Given the description of an element on the screen output the (x, y) to click on. 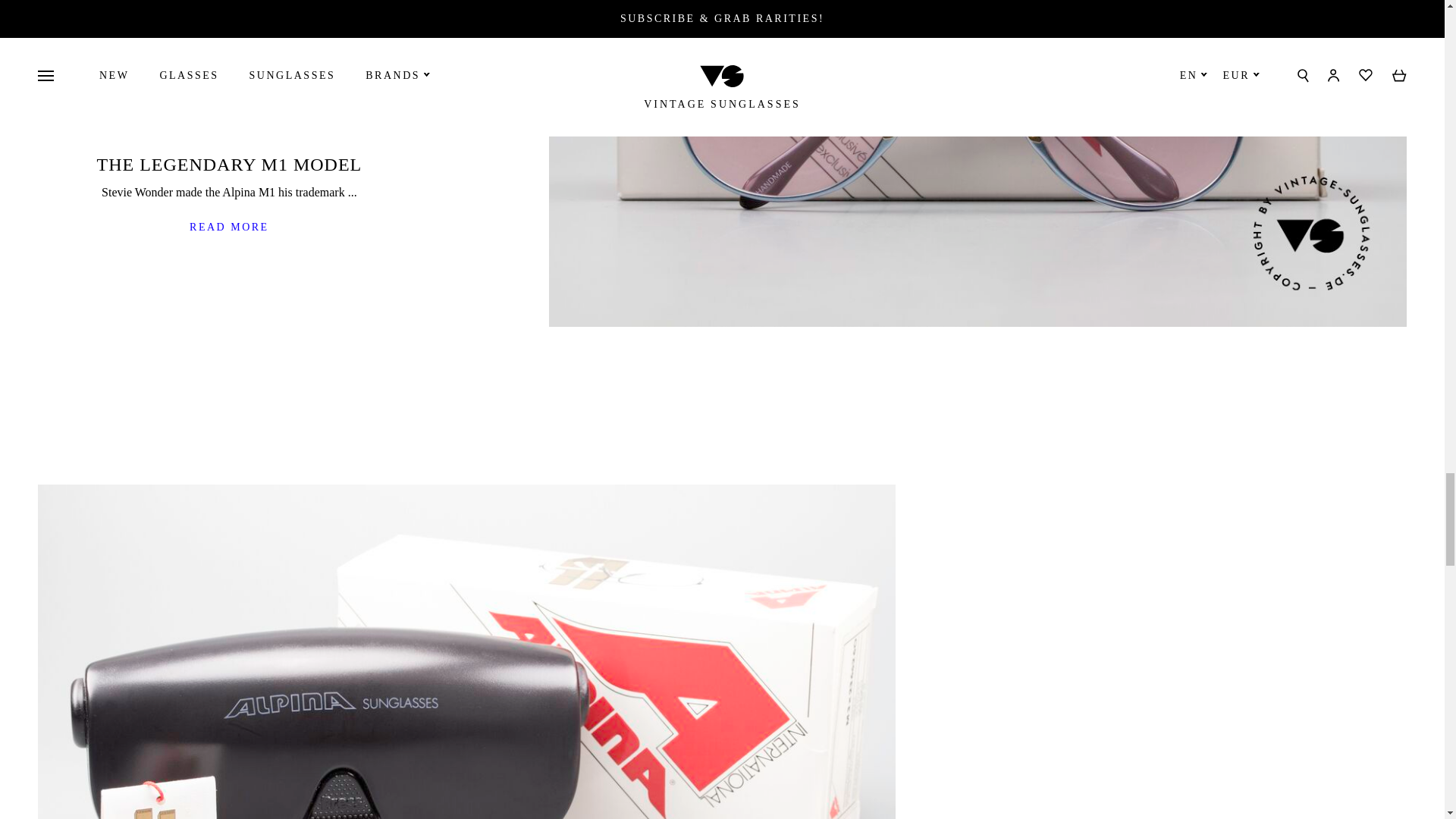
READ MORE (228, 226)
